Given the description of an element on the screen output the (x, y) to click on. 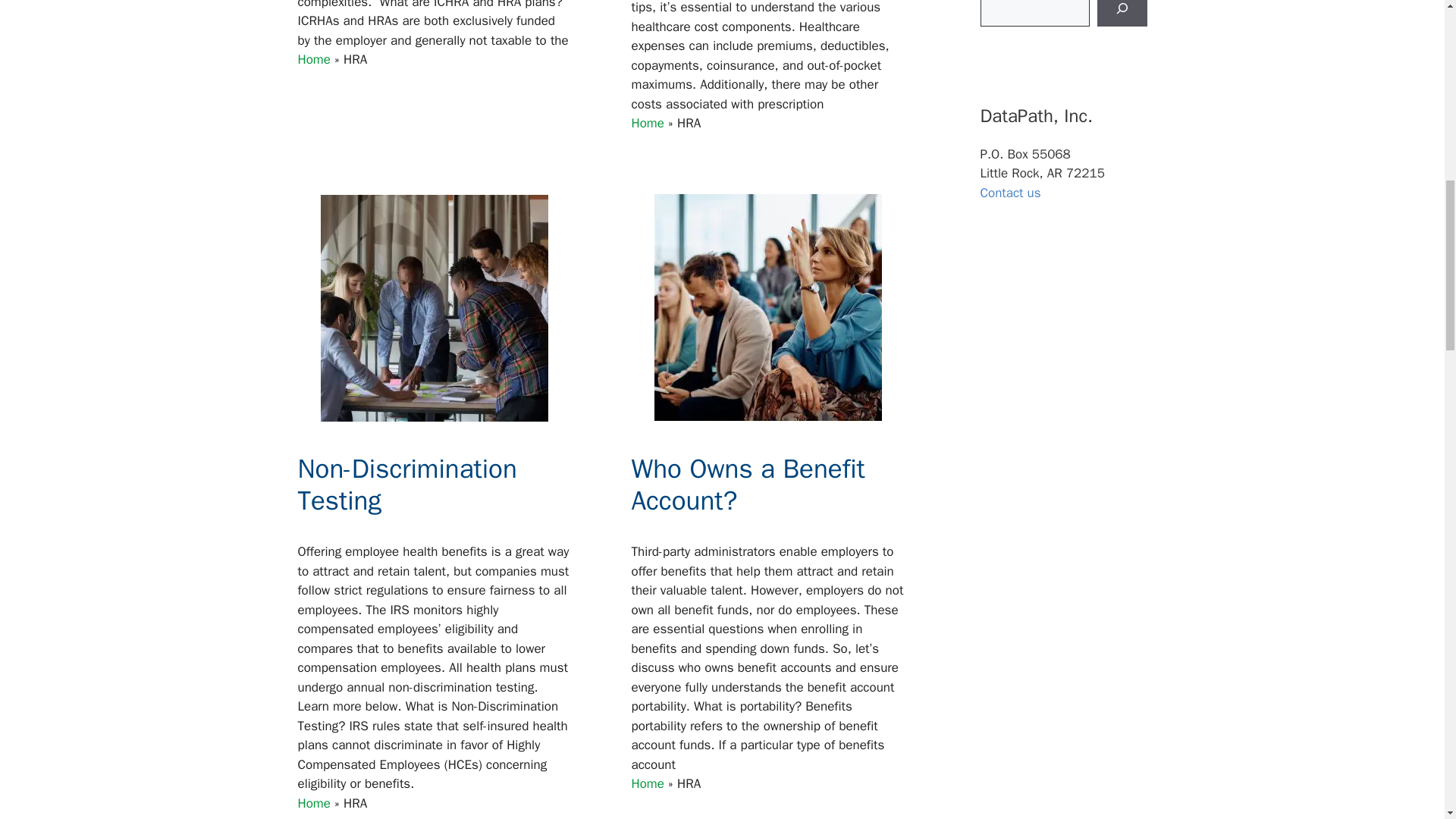
Who Owns a Benefit Account? (747, 484)
Home (313, 803)
Home (646, 783)
Home (646, 123)
Non-Discrimination Testing (406, 484)
Home (313, 59)
